Given the description of an element on the screen output the (x, y) to click on. 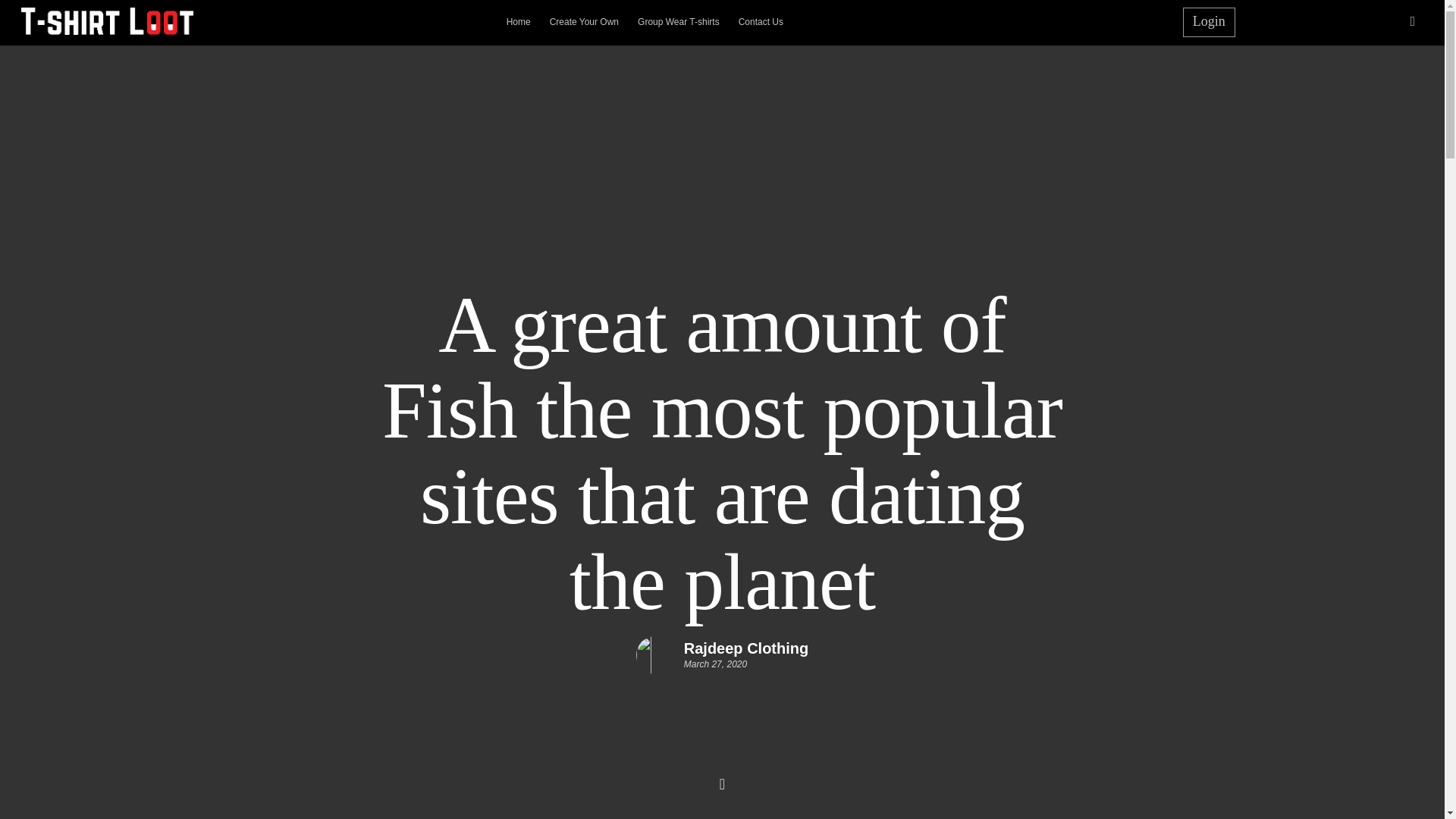
Contact Us (760, 18)
Rajdeep Clothing (746, 648)
Login (1208, 20)
Home (518, 18)
Group Wear T-shirts (678, 18)
Create Your Own (583, 18)
Posts by Rajdeep Clothing (746, 648)
